Given the description of an element on the screen output the (x, y) to click on. 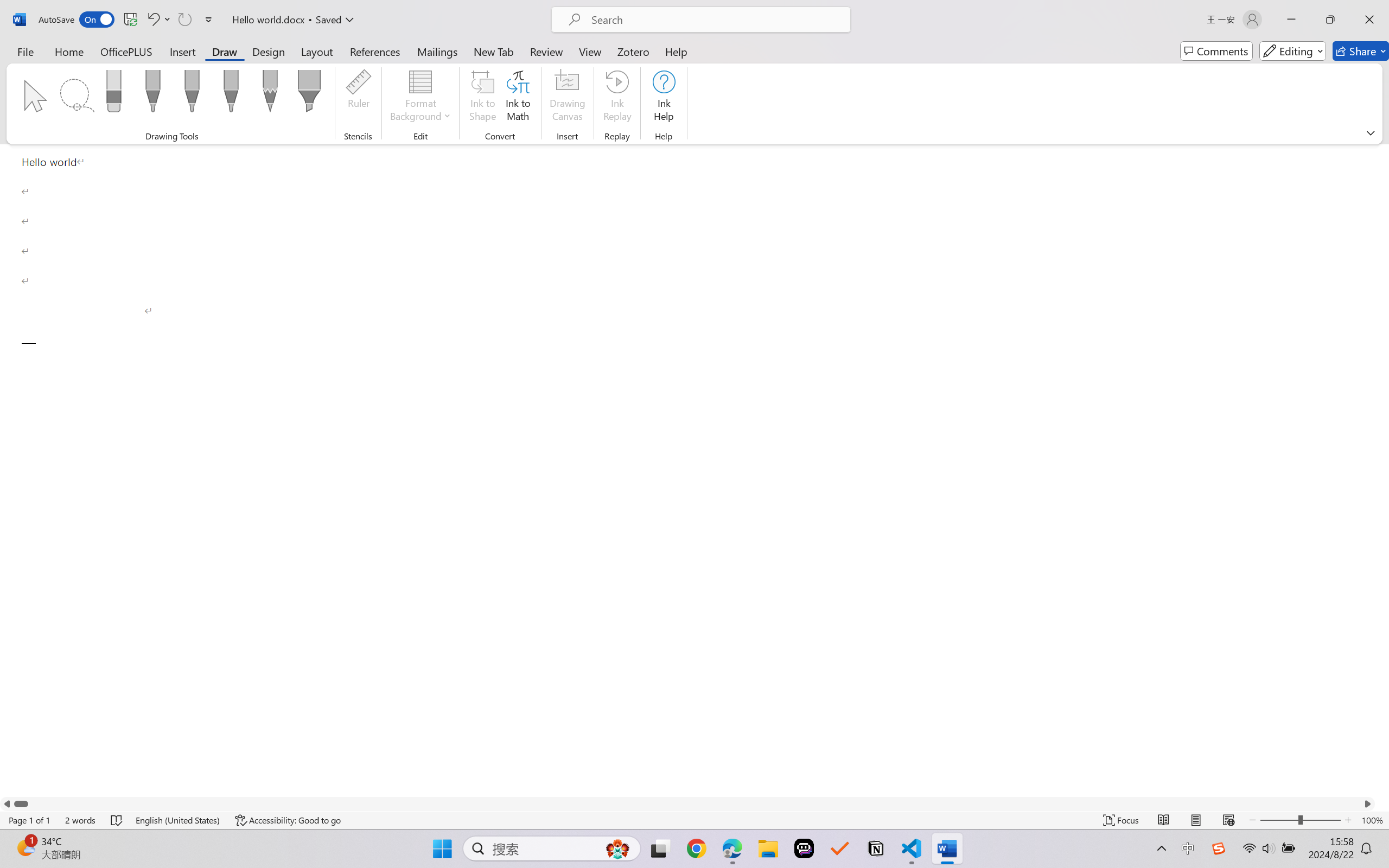
Ink to Shape (483, 97)
Web Layout (1228, 819)
AutomationID: DynamicSearchBoxGleamImage (617, 848)
Draw (224, 51)
Customize Quick Access Toolbar (208, 19)
Undo Paragraph Formatting (158, 19)
Save (130, 19)
Close (1369, 19)
Print Layout (1196, 819)
Pen: Black, 0.5 mm (152, 94)
Class: MsoCommandBar (694, 819)
Ribbon Display Options (1370, 132)
